Given the description of an element on the screen output the (x, y) to click on. 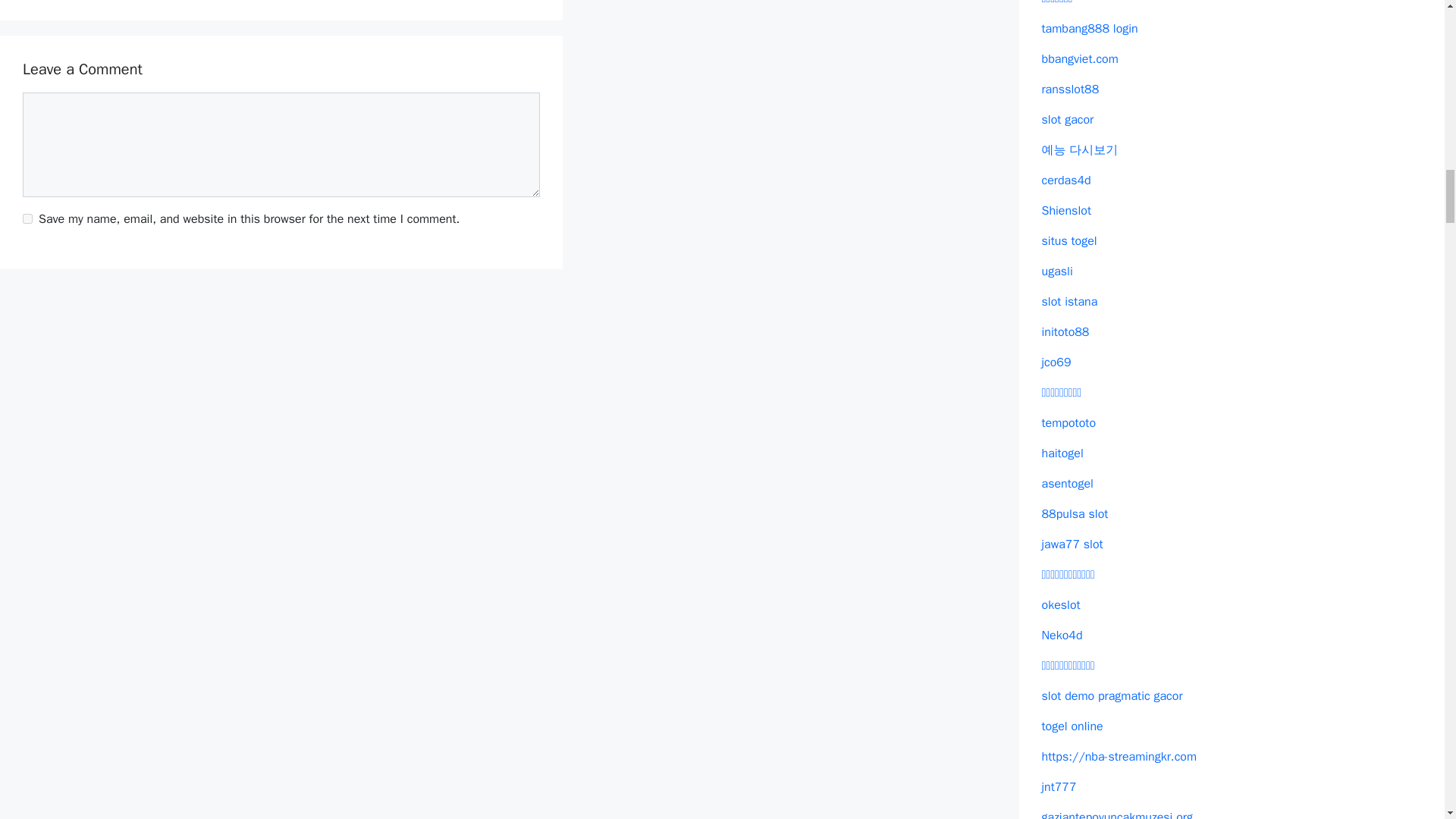
yes (27, 218)
